Given the description of an element on the screen output the (x, y) to click on. 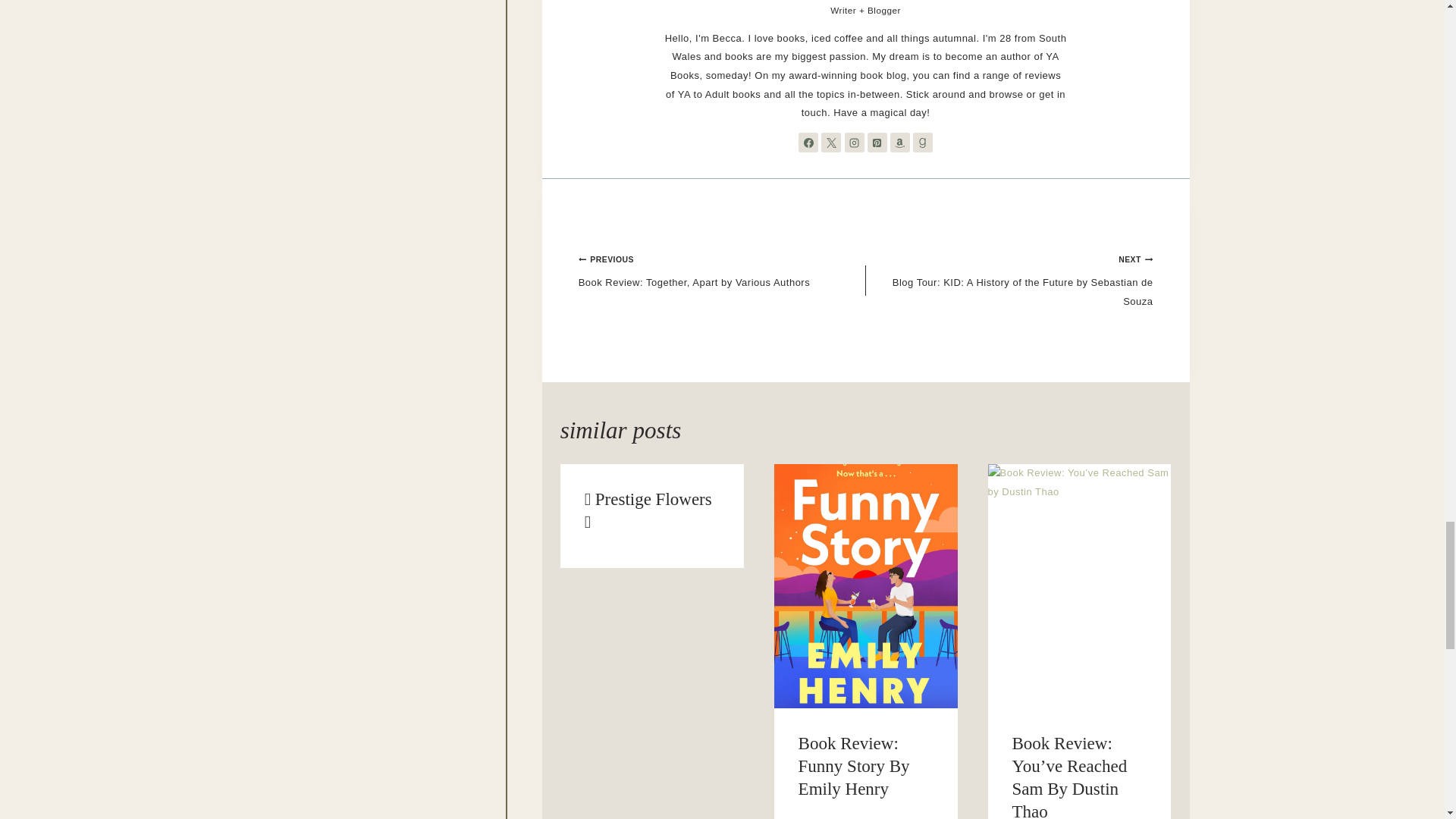
Follow Becca Jayne on X formerly Twitter (831, 142)
Follow Becca Jayne on Instagram (854, 142)
Follow Becca Jayne on Facebook (807, 142)
Follow Becca Jayne on Pinterest (876, 142)
